Given the description of an element on the screen output the (x, y) to click on. 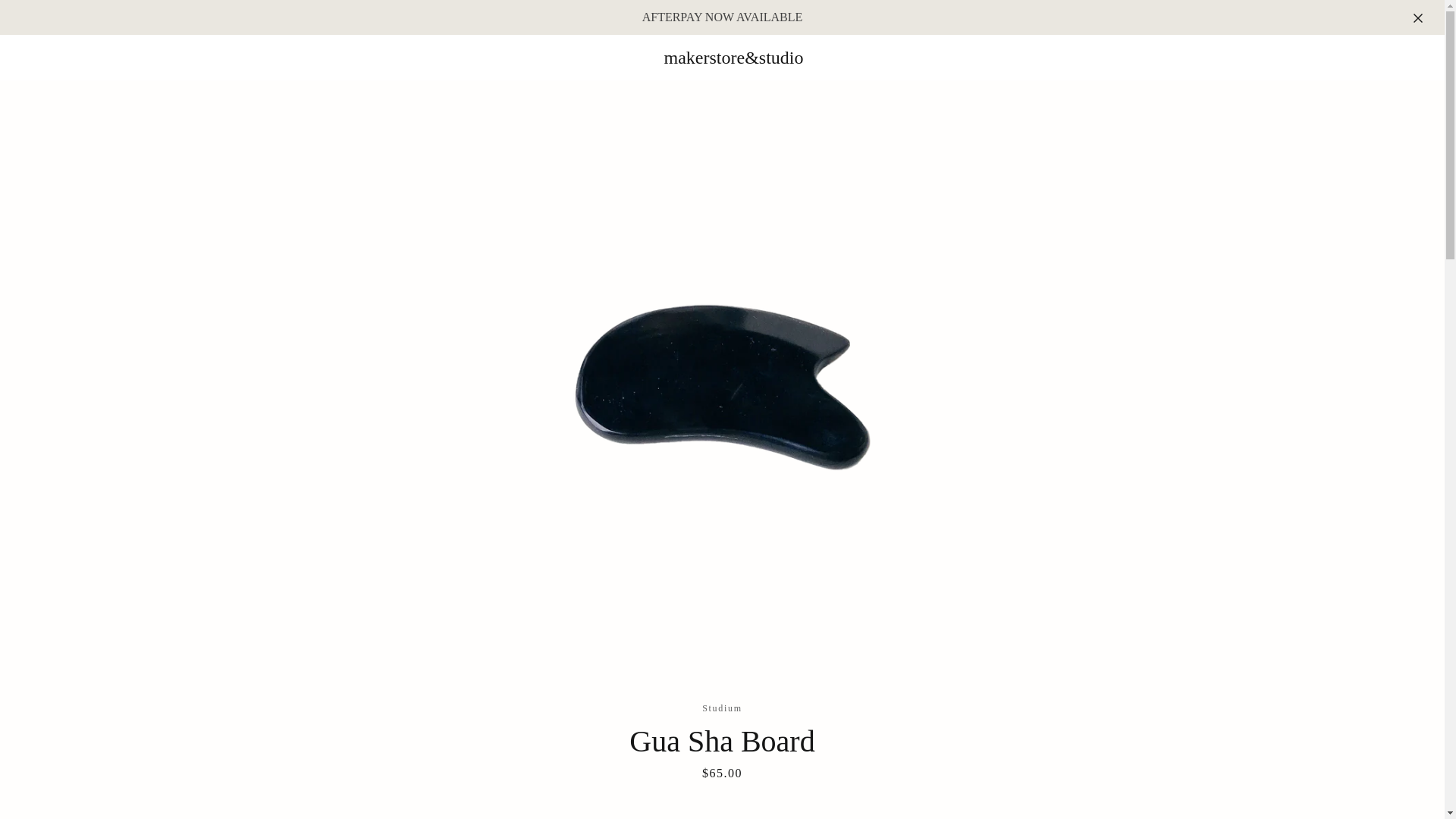
SIZING (900, 719)
MENU (384, 57)
